Given the description of an element on the screen output the (x, y) to click on. 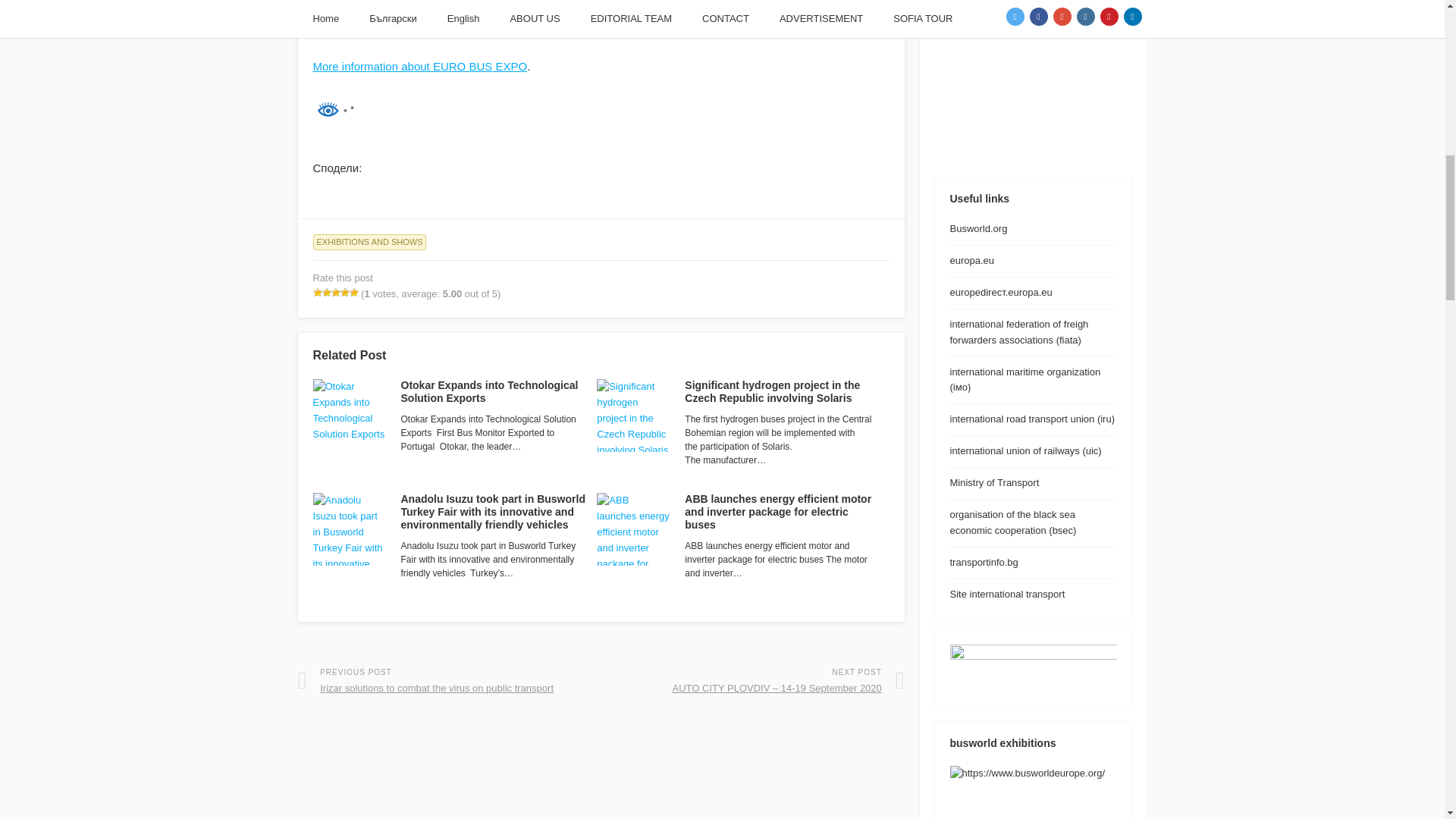
4 Stars (344, 292)
2 Stars (325, 292)
1 Star (317, 292)
More information about EURO BUS EXPO (420, 65)
5 Stars (353, 292)
3 Stars (334, 292)
